Given the description of an element on the screen output the (x, y) to click on. 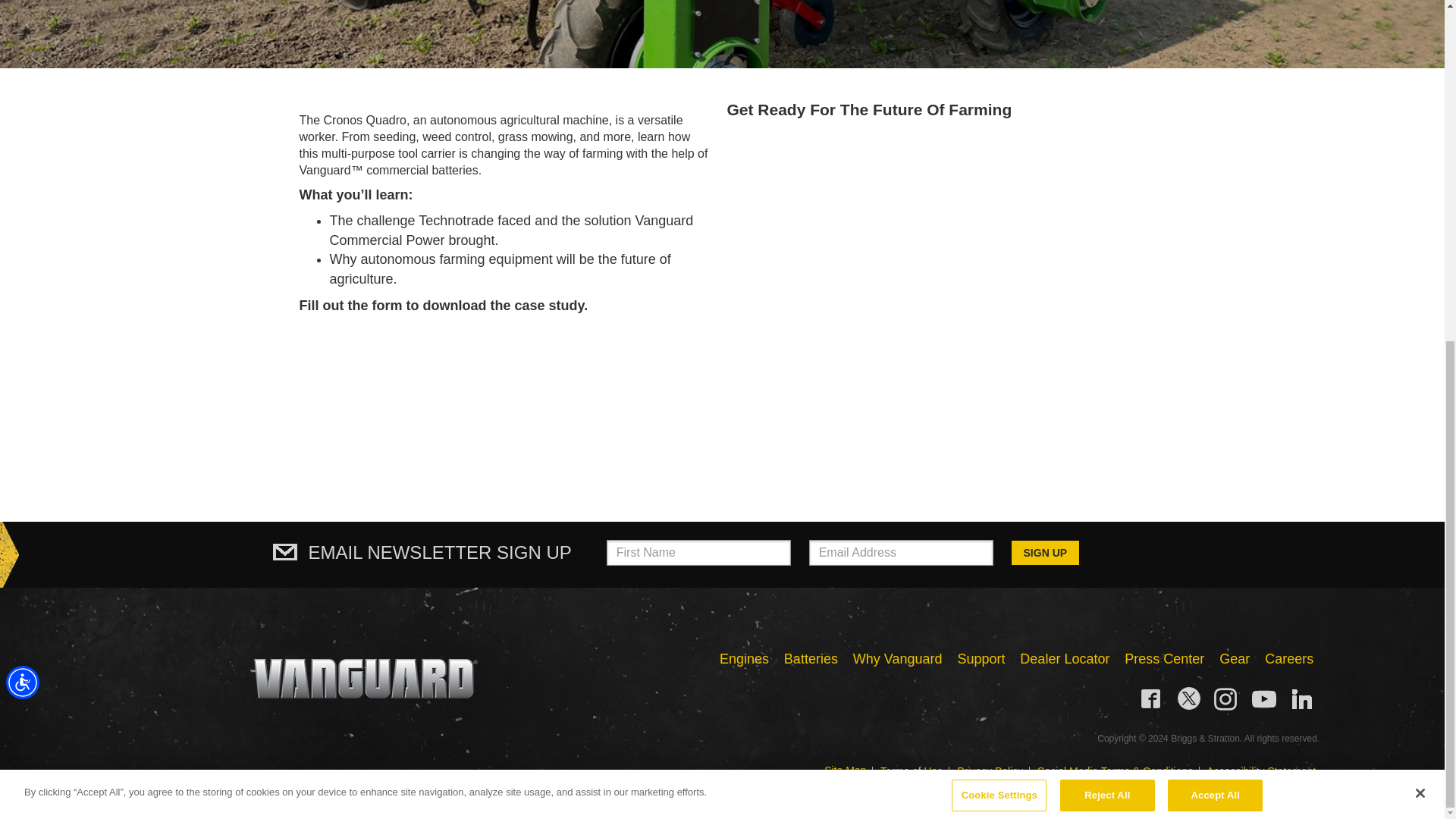
Vanguard Commercial Power (365, 678)
Vanguard Instagram (1226, 697)
Vanguard LinkedIn (1302, 697)
Accessibility Menu (22, 101)
Vanguard Facebook (1150, 697)
Vanguard YouTube  (1264, 697)
